Given the description of an element on the screen output the (x, y) to click on. 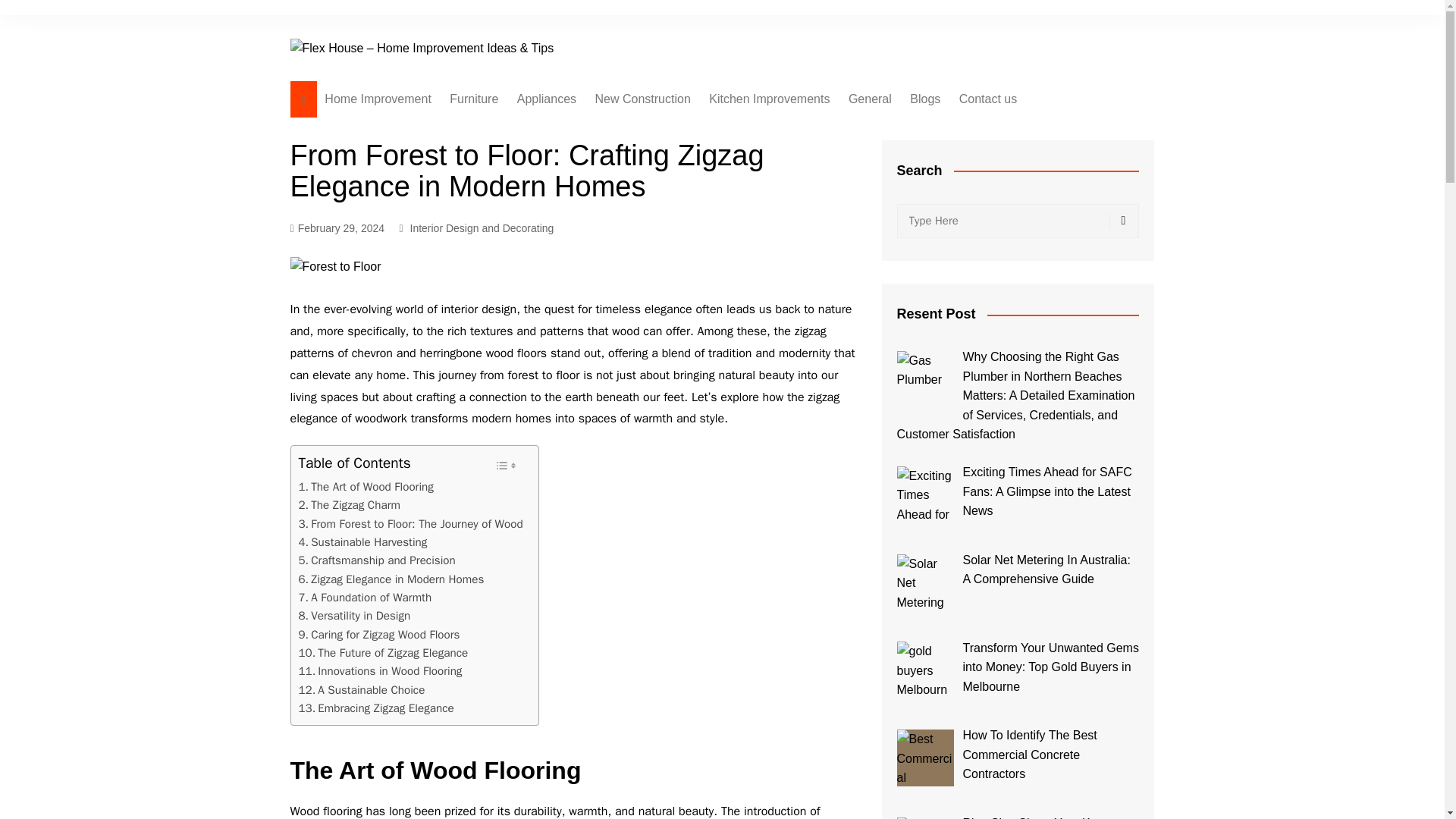
Caring for Zigzag Wood Floors (379, 634)
The Zigzag Charm (349, 505)
Home Security (593, 217)
Versatility in Design (354, 615)
Sustainable Harvesting (363, 542)
From Forest to Floor: The Journey of Wood (410, 524)
Moving (671, 267)
Zigzag Elegance in Modern Homes (391, 579)
The Zigzag Charm (349, 505)
Interior Design and Decorating (481, 228)
A Sustainable Choice (361, 689)
Cleaning Tips and Tools (593, 192)
Plumbing (924, 154)
The Future of Zigzag Elegance (383, 652)
Embracing Zigzag Elegance (376, 708)
